Given the description of an element on the screen output the (x, y) to click on. 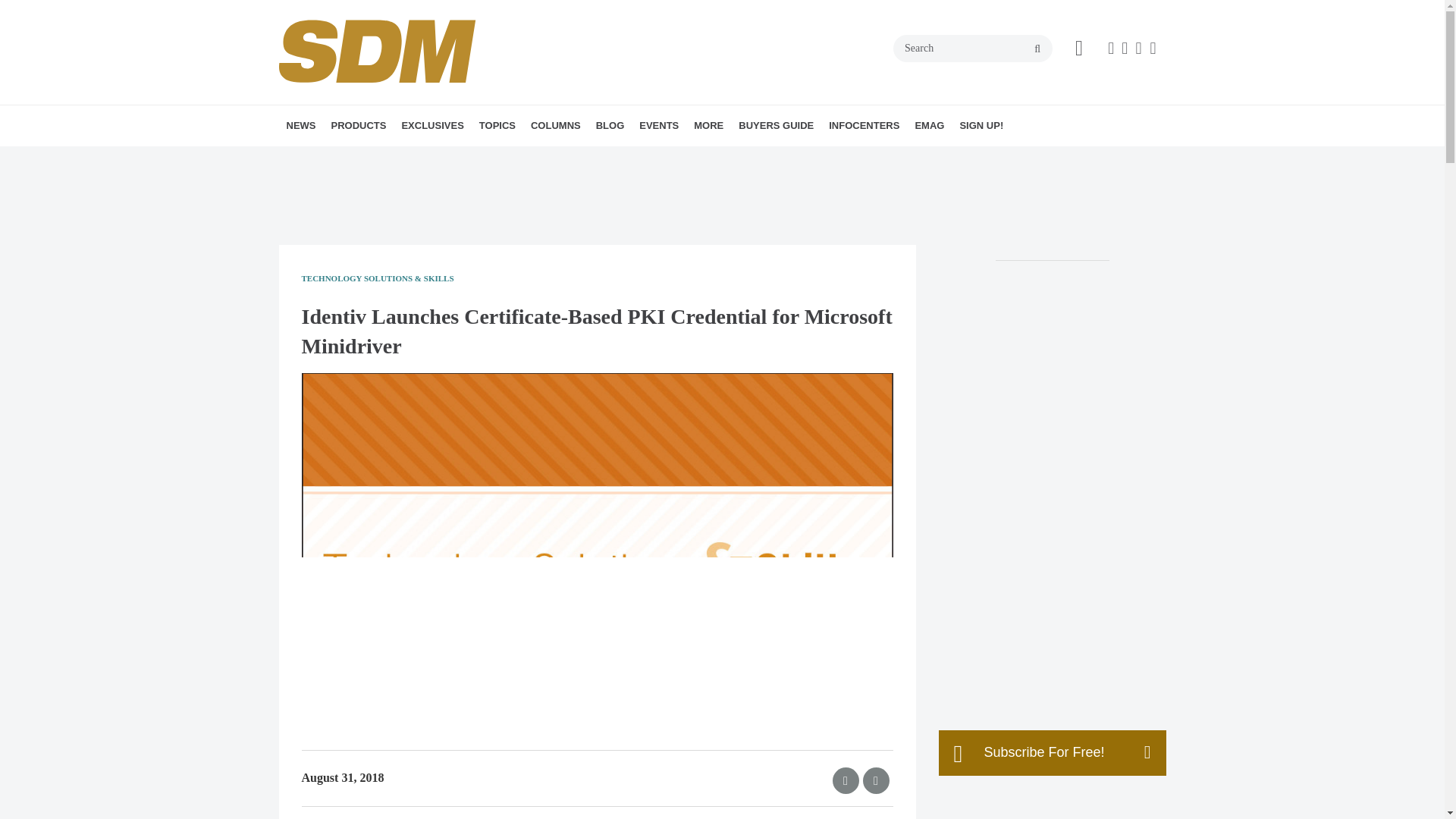
ANNUAL INDUSTRY FORECAST (504, 158)
NEWS (301, 125)
PRODUCTS (358, 125)
EDITOR'S ANGLE (625, 158)
TOPICS (496, 125)
STATE OF THE MARKET SERIES (510, 158)
INTEGRATION SPOTLIGHT (636, 158)
Search (972, 48)
DEALER OF THE YEAR (515, 158)
EXCLUSIVES (431, 125)
